Given the description of an element on the screen output the (x, y) to click on. 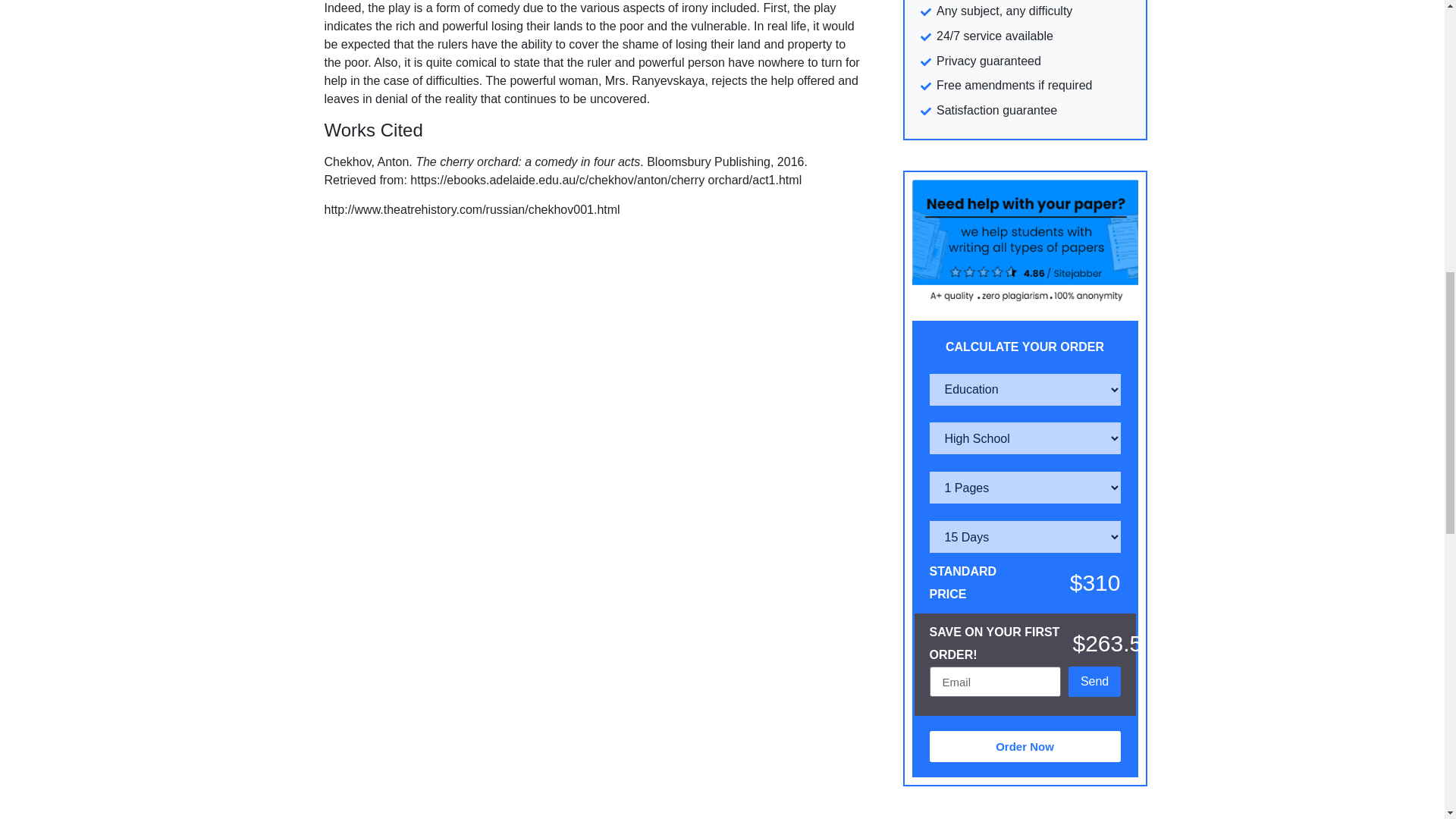
Order Now (1025, 746)
Send (1094, 681)
